Given the description of an element on the screen output the (x, y) to click on. 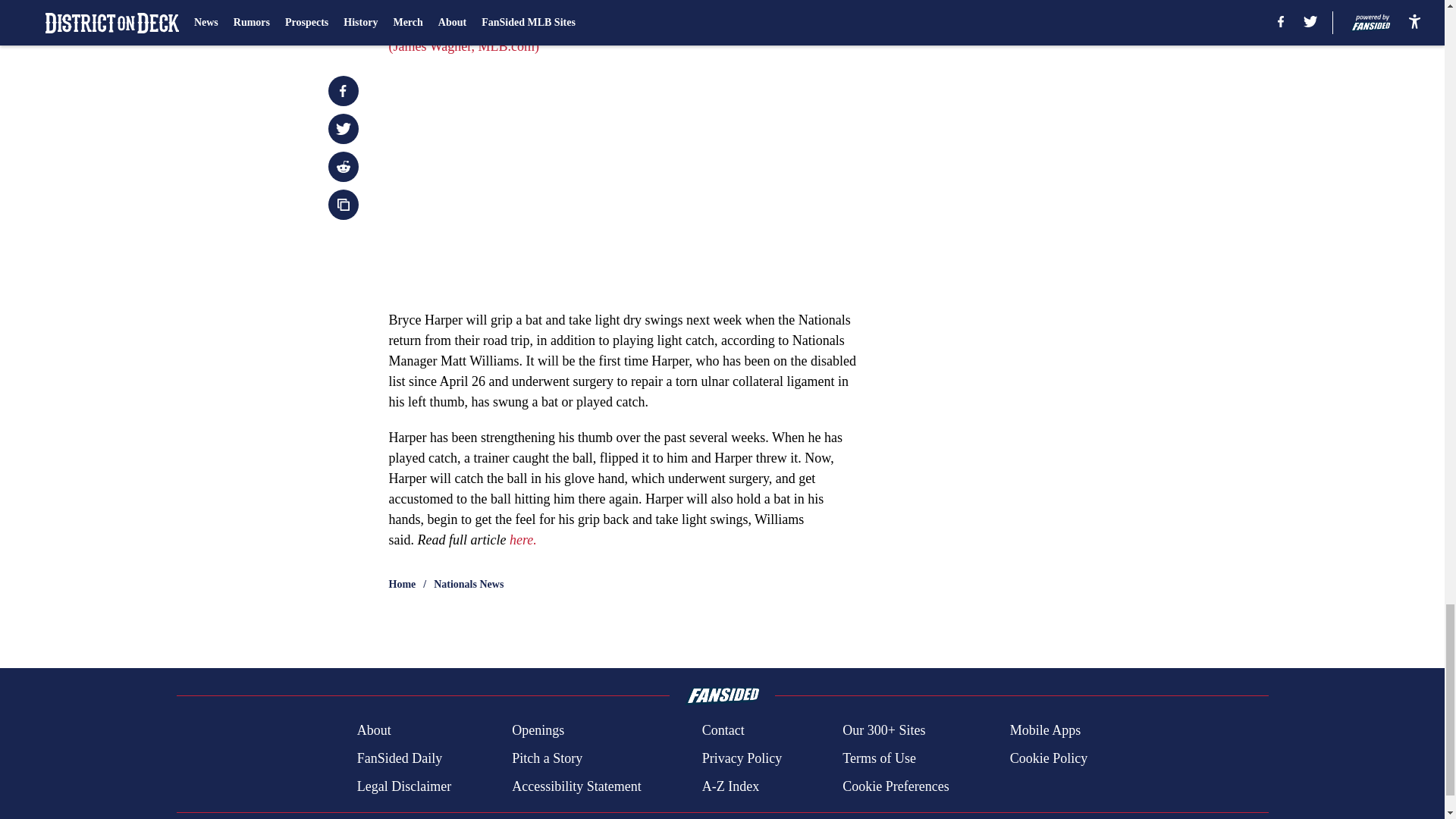
Nationals News (468, 584)
here. (523, 539)
Privacy Policy (742, 758)
Terms of Use (879, 758)
FanSided Daily (399, 758)
Pitch a Story (547, 758)
Cookie Policy (1048, 758)
Openings (538, 730)
Mobile Apps (1045, 730)
Contact (722, 730)
